Given the description of an element on the screen output the (x, y) to click on. 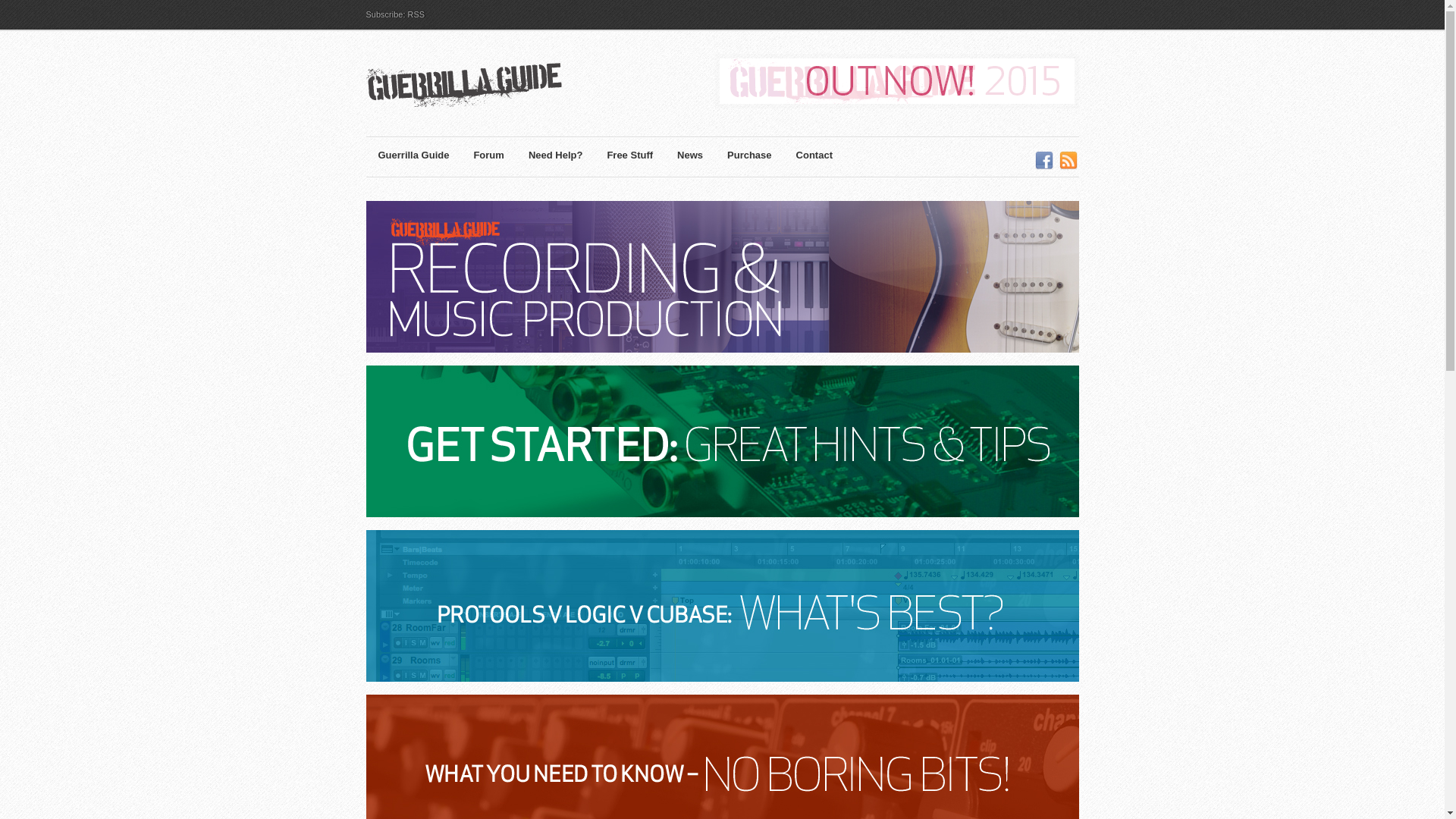
Facebook Element type: hover (1044, 160)
Free Stuff Element type: text (629, 157)
Forum Element type: text (487, 157)
Purchase Element type: text (749, 157)
Search Element type: text (22, 16)
Guerrilla Guide Element type: text (414, 157)
Contact Element type: text (814, 157)
News Element type: text (689, 157)
Need Help? Element type: text (555, 157)
RSS Element type: text (416, 13)
Guerrilla Guide | Recording & Music Production Element type: hover (494, 87)
RSS Element type: hover (1067, 160)
